Given the description of an element on the screen output the (x, y) to click on. 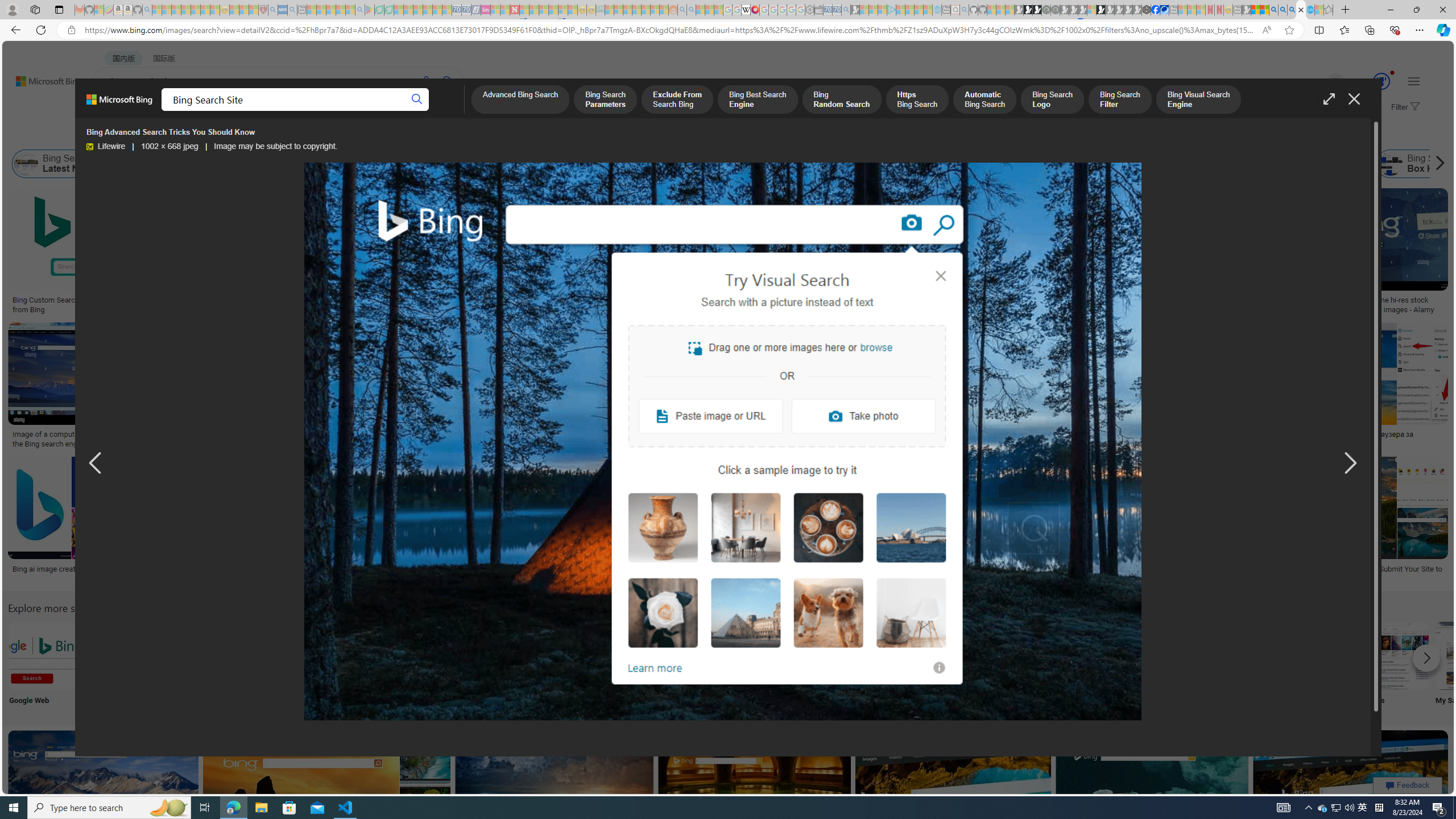
WEB (114, 111)
License (378, 135)
App Logo (118, 665)
Download Bing Pictures | Wallpapers.com (595, 434)
Bing as Search Engine (171, 163)
Microsoft Edge (268, 665)
Download Bing Pictures | Wallpapers.comSave (614, 387)
ACADEMIC (360, 111)
